Given the description of an element on the screen output the (x, y) to click on. 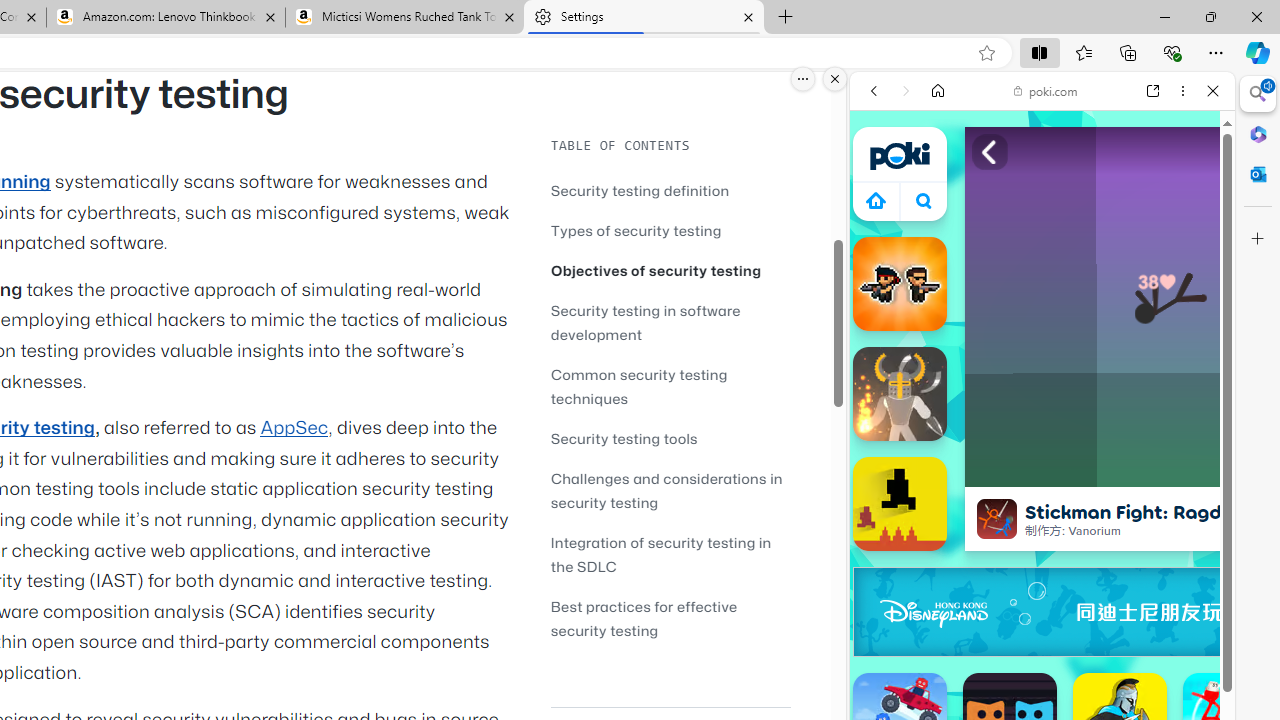
Home (938, 91)
Types of security testing (670, 230)
Forward (906, 91)
Types of security testing (635, 230)
Car Games (1042, 469)
Customize (1258, 239)
Challenges and considerations in security testing (666, 490)
Class: hvLtMSipvVng82x9Seuh (997, 519)
Show More Two Player Games (1164, 570)
Ragdoll Hit Ragdoll Hit (899, 393)
Global web icon (888, 288)
WEB   (882, 228)
Zombie Rush (899, 283)
